Given the description of an element on the screen output the (x, y) to click on. 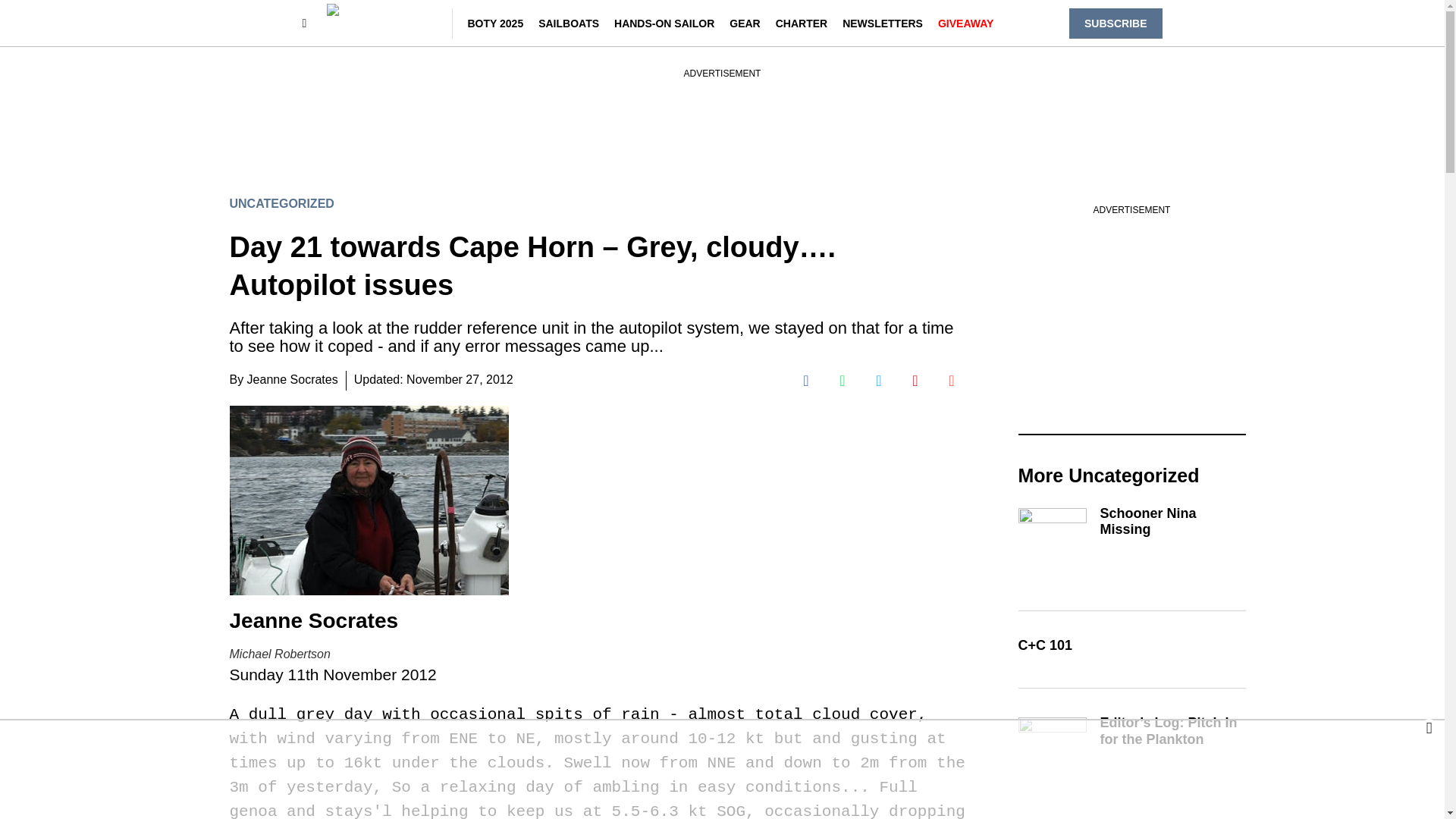
HANDS-ON SAILOR (664, 22)
GEAR (744, 22)
BOTY 2025 (494, 22)
SAILBOATS (568, 22)
